Given the description of an element on the screen output the (x, y) to click on. 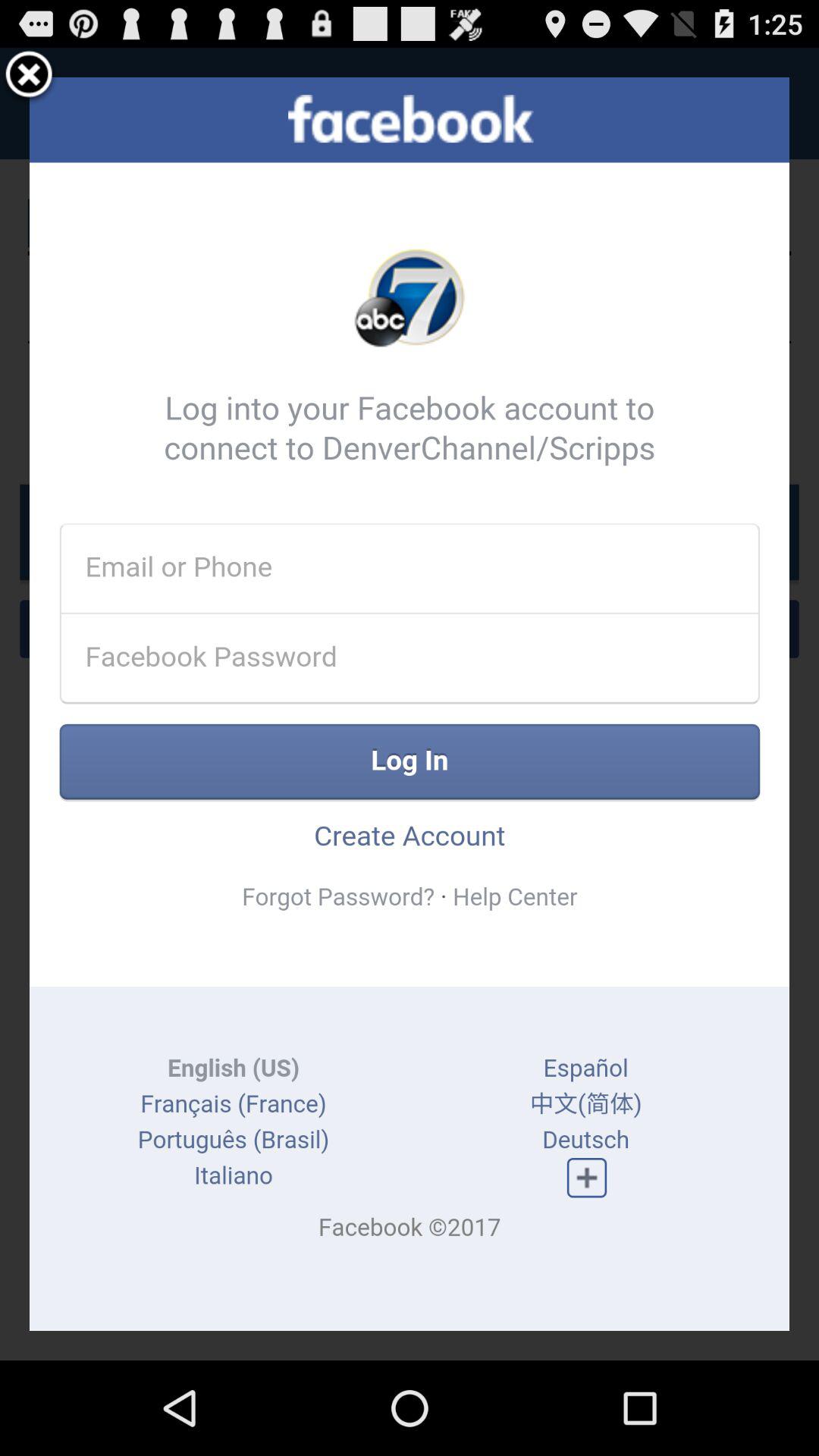
memove button (29, 76)
